Given the description of an element on the screen output the (x, y) to click on. 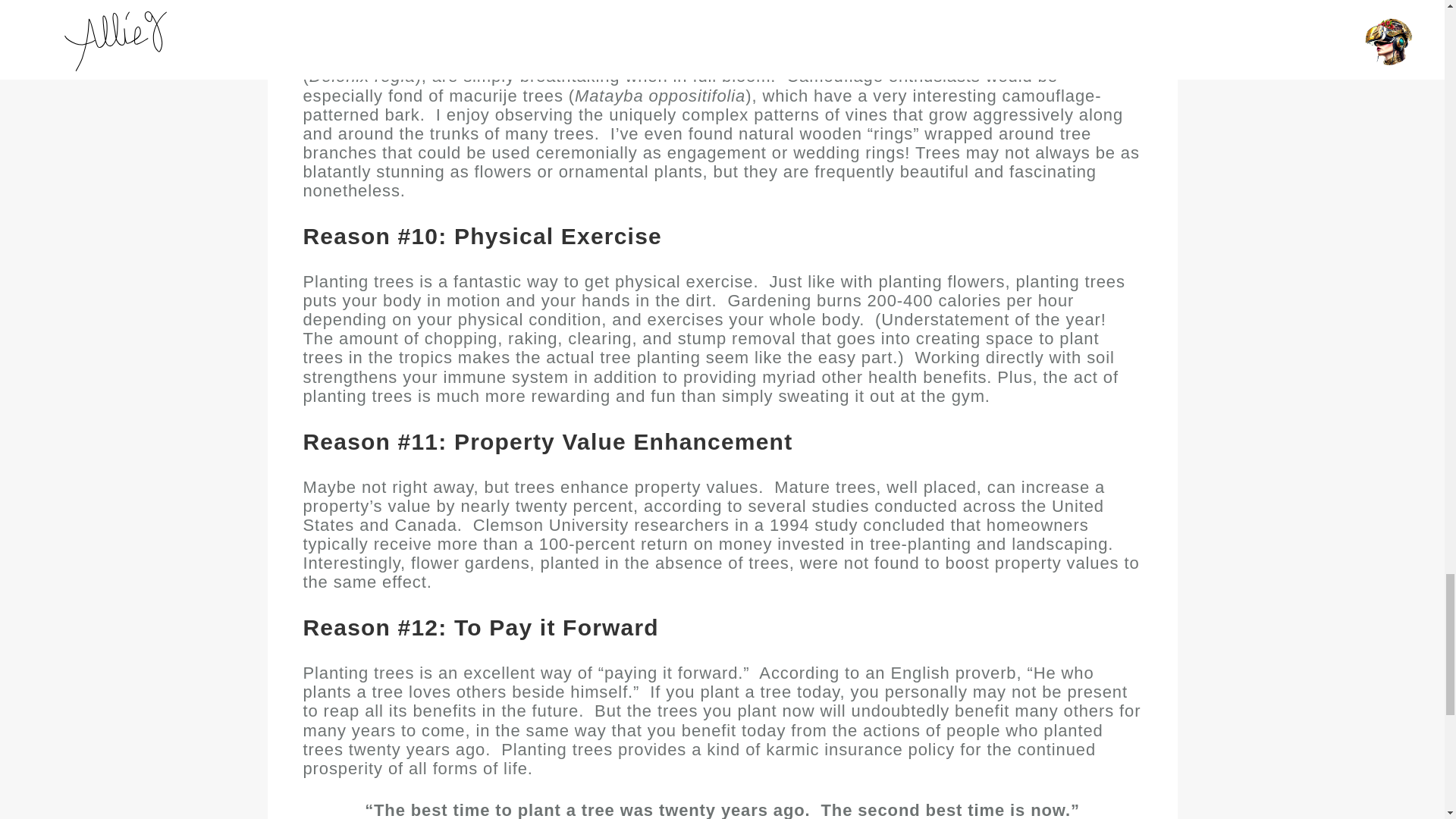
1994 study (813, 536)
